Given the description of an element on the screen output the (x, y) to click on. 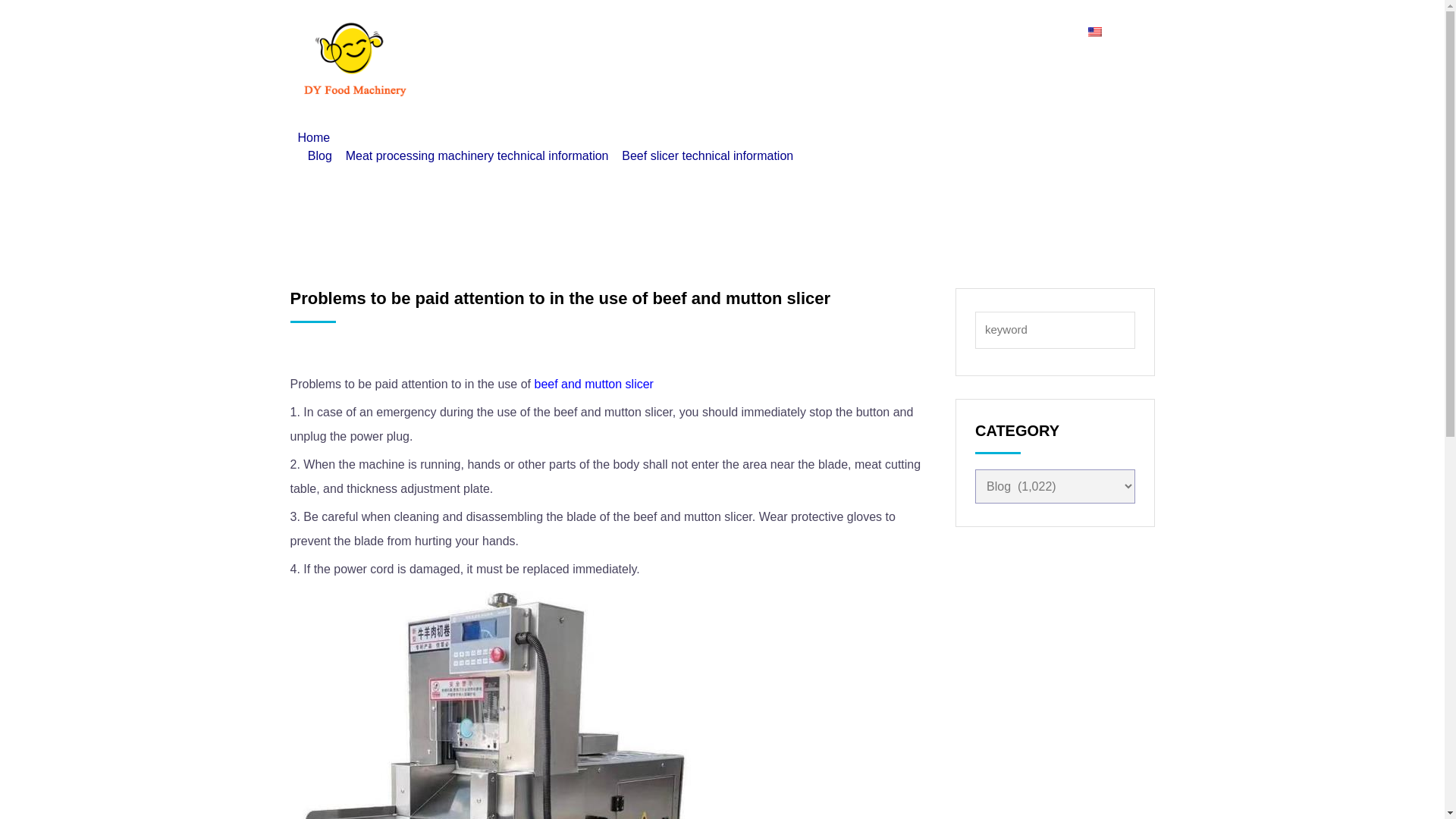
English (1109, 31)
About Us (638, 31)
Blog (808, 31)
Contact Us (731, 31)
Products (552, 31)
